Given the description of an element on the screen output the (x, y) to click on. 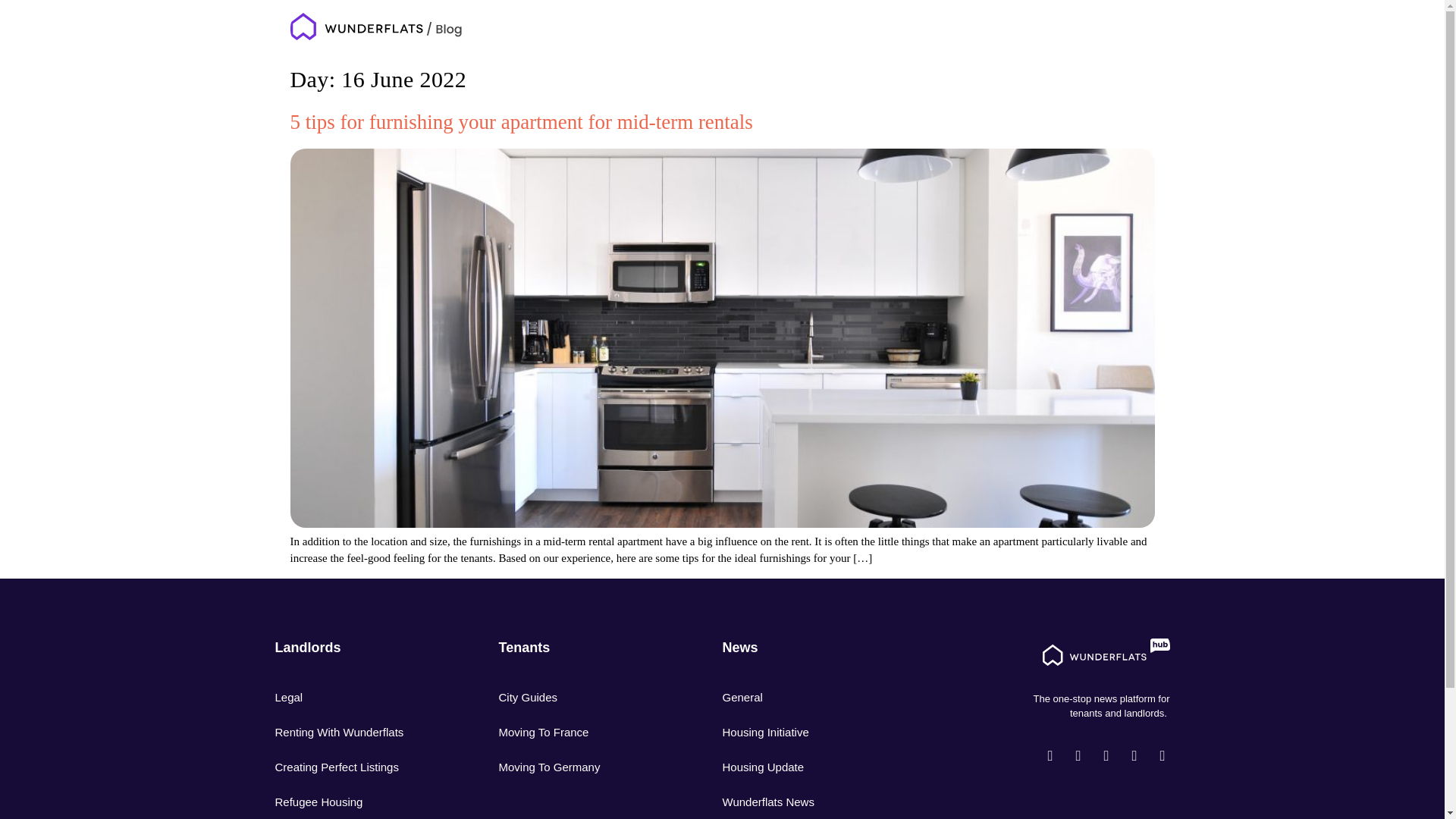
Creating Perfect Listings (363, 766)
Wunderflats News (811, 801)
Legal (363, 696)
5 tips for furnishing your apartment for mid-term rentals (520, 121)
Housing Update (811, 766)
General (811, 696)
Moving To Germany (588, 766)
Refugee Housing (363, 801)
Renting With Wunderflats (363, 731)
Moving To France (588, 731)
Housing Initiative (811, 731)
City Guides (588, 696)
